Given the description of an element on the screen output the (x, y) to click on. 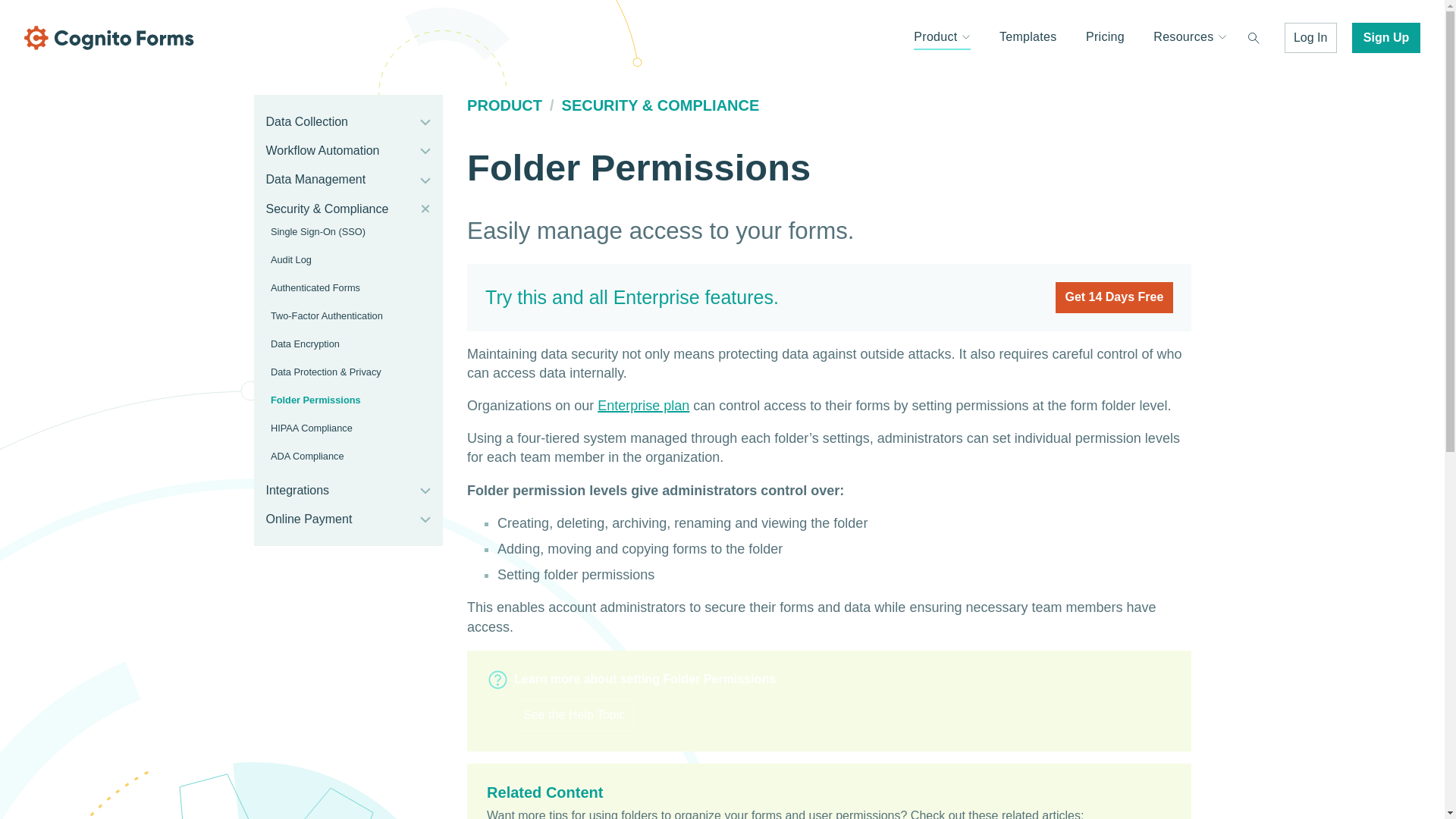
Sign Up (1386, 37)
HIPAA Compliance (341, 428)
Two-Factor Authentication (341, 315)
Authenticated Forms (341, 287)
Folder Permissions (341, 399)
Online Payment (339, 518)
Data Encryption (341, 343)
Data Collection (339, 121)
expand (425, 121)
Skip Product Menu (258, 112)
